Given the description of an element on the screen output the (x, y) to click on. 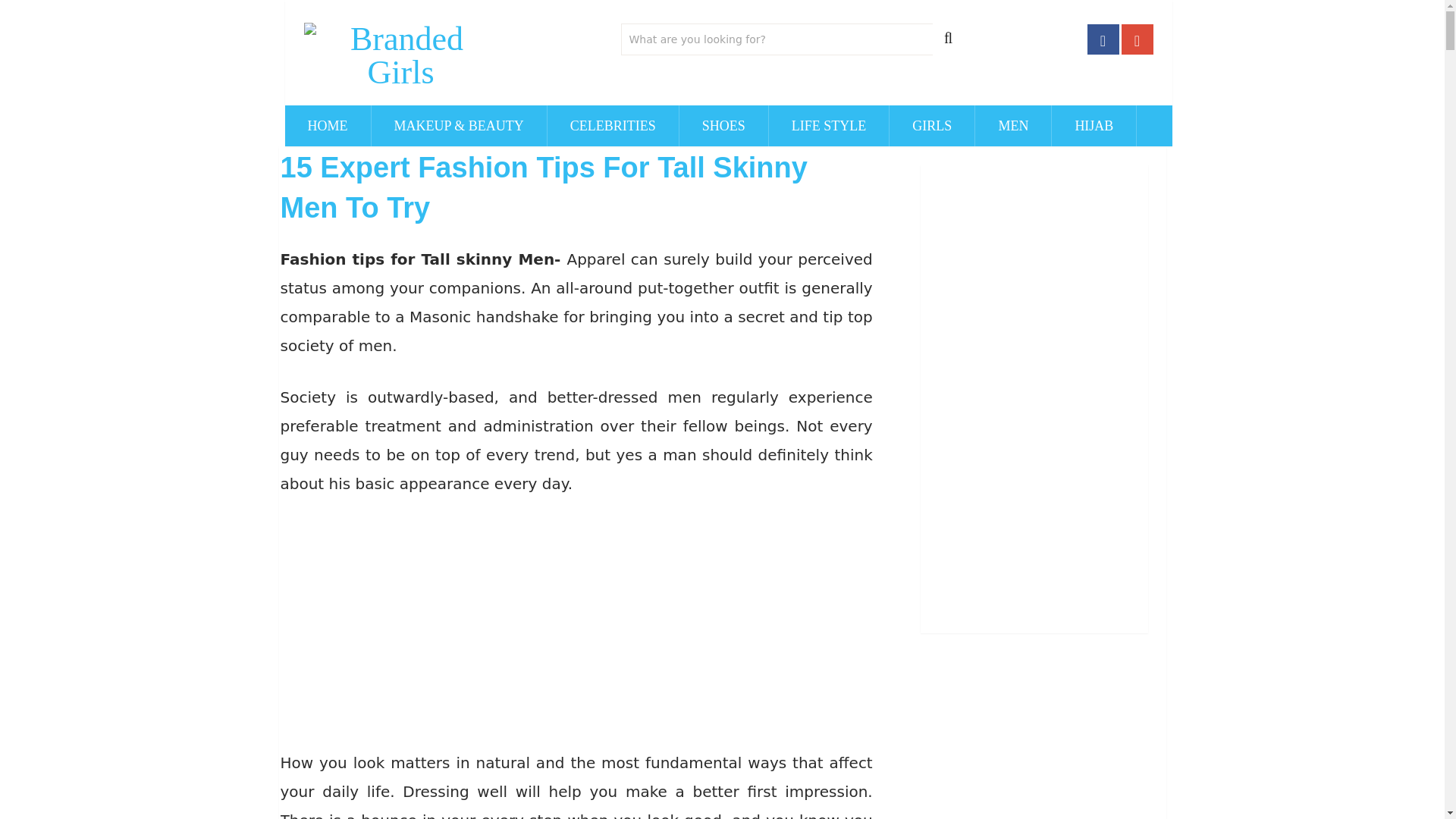
HIJAB (1093, 125)
GIRLS (931, 125)
HOME (328, 125)
SHOES (723, 125)
MEN (1013, 125)
LIFE STYLE (828, 125)
CELEBRITIES (612, 125)
Advertisement (576, 626)
